Given the description of an element on the screen output the (x, y) to click on. 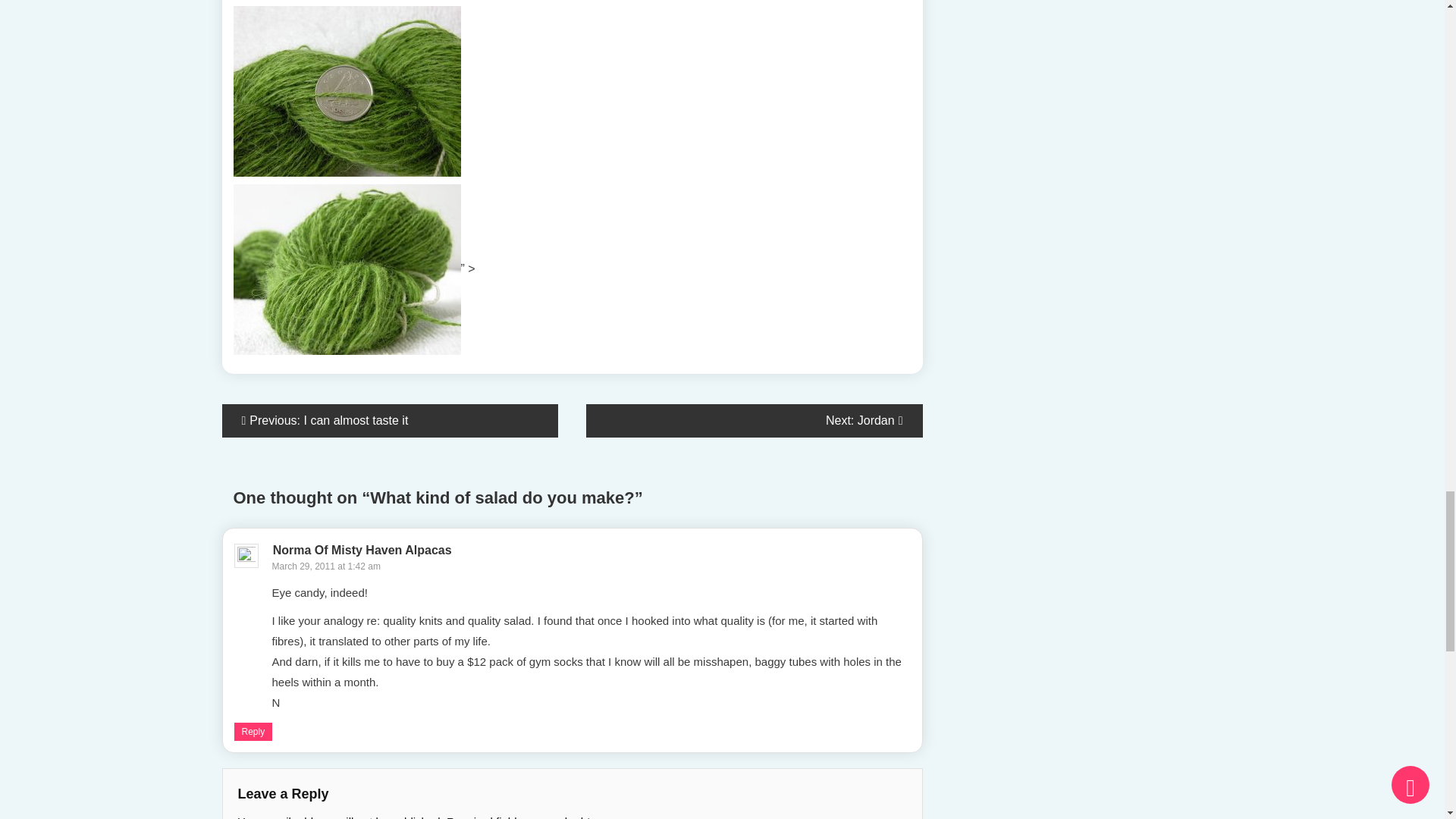
Norma Of Misty Haven Alpacas (362, 549)
Previous: I can almost taste it (389, 420)
Next: Jordan (754, 420)
